Given the description of an element on the screen output the (x, y) to click on. 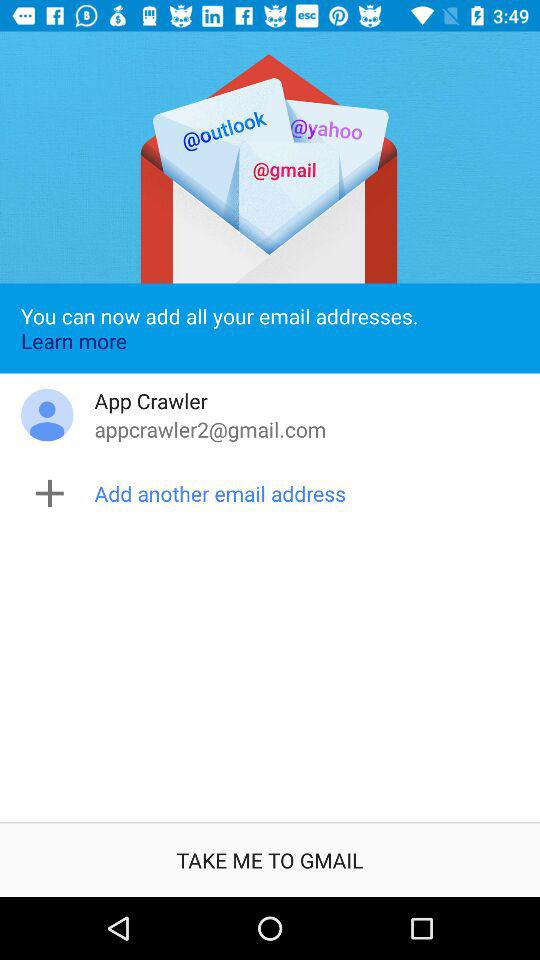
press the you can now app (269, 328)
